Given the description of an element on the screen output the (x, y) to click on. 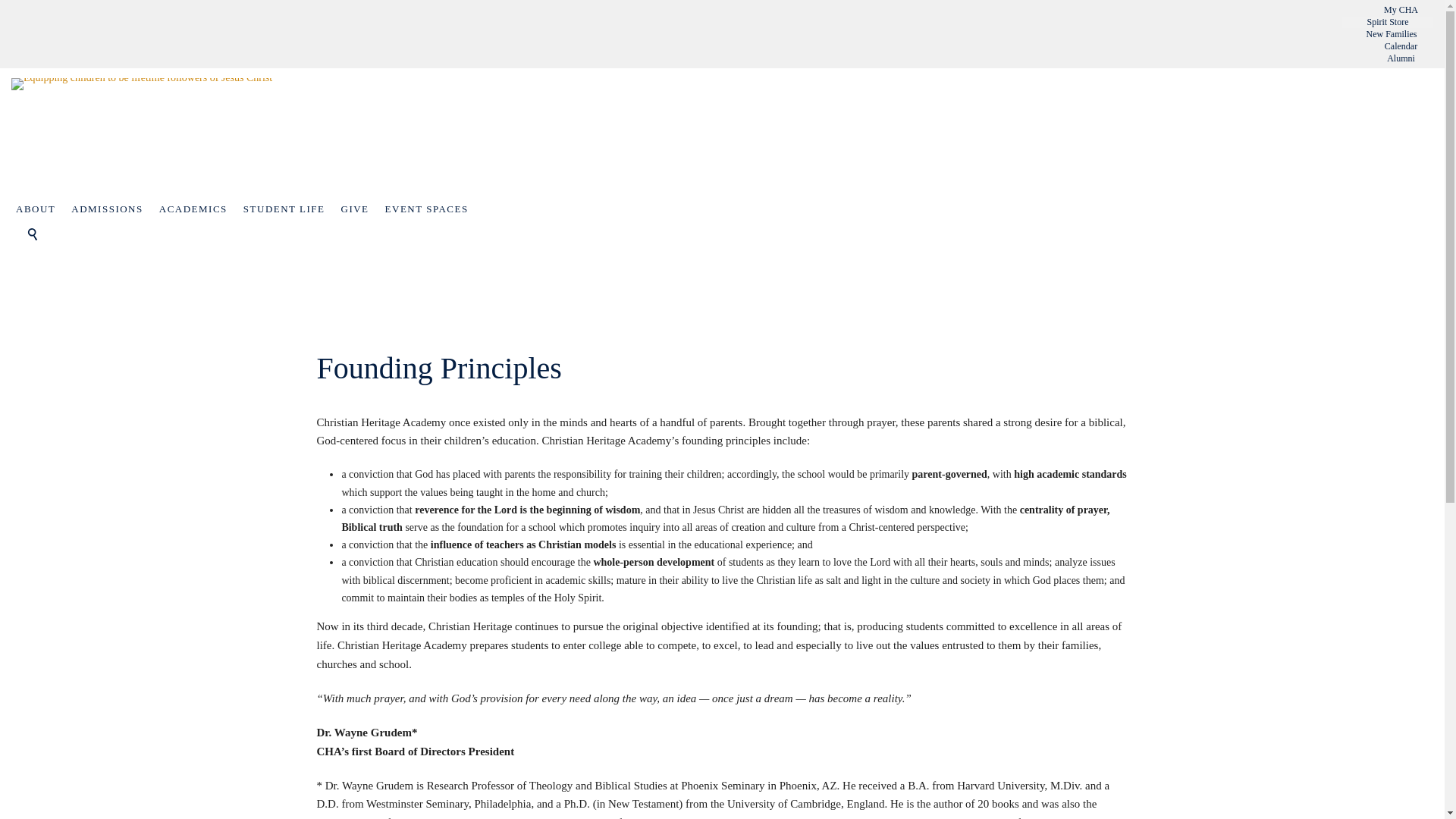
GIVE (358, 209)
New Families (1390, 34)
Calendar (1400, 46)
EVENT SPACES (430, 209)
ADMISSIONS (110, 209)
ACADEMICS (196, 209)
ADMISSIONS (110, 209)
My CHA (1400, 9)
Equipping children to be lifetime followers of Jesus Christ (200, 134)
ABOUT (38, 209)
ABOUT (38, 209)
ACADEMICS (196, 209)
STUDENT LIFE (287, 209)
GIVE (358, 209)
STUDENT LIFE (287, 209)
